Given the description of an element on the screen output the (x, y) to click on. 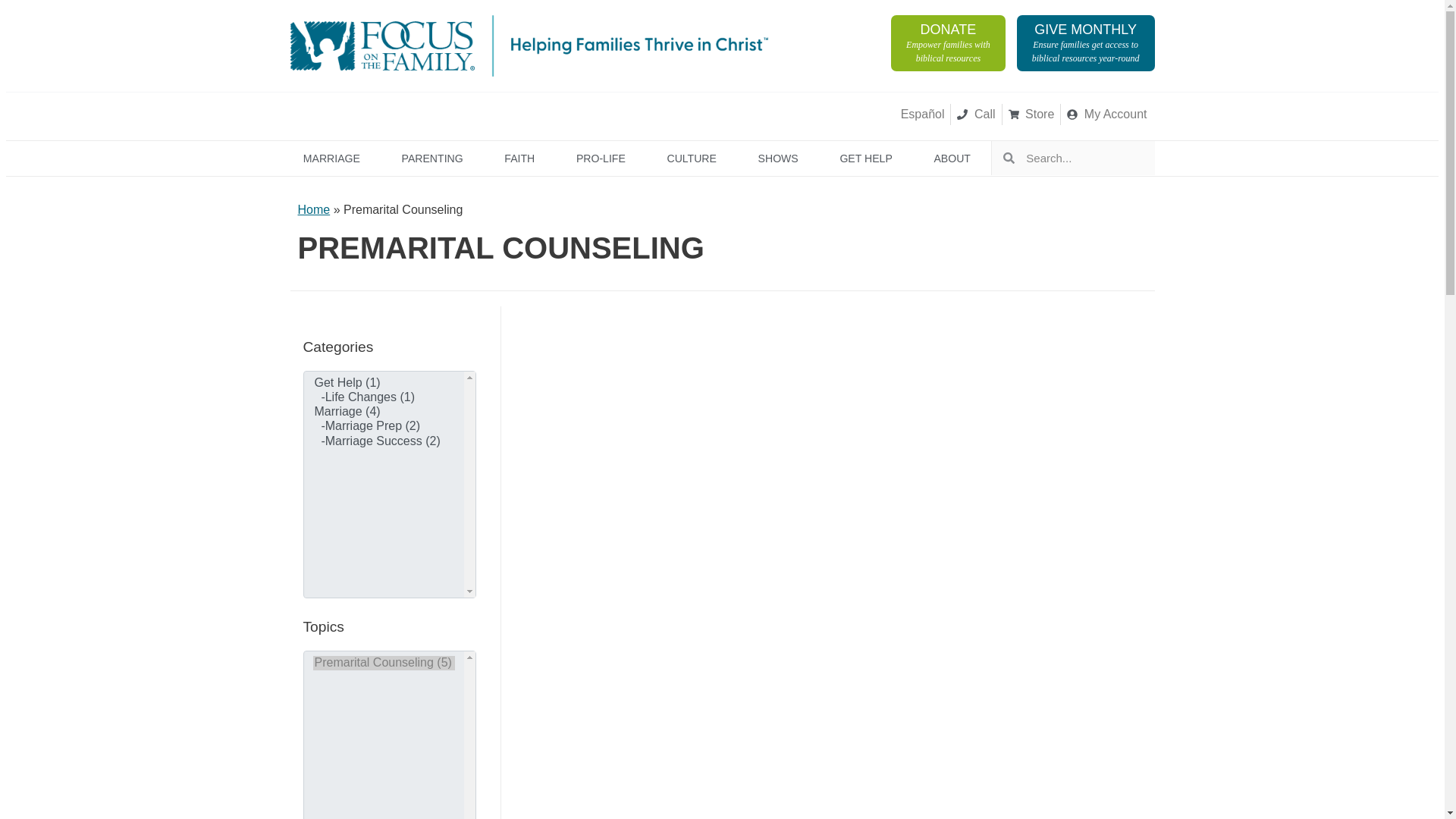
PARENTING (948, 43)
Store (431, 158)
FAITH (1031, 114)
Call (519, 158)
Brio (975, 114)
Focus on the Family Clubhouse Jr. (550, 113)
My Account (660, 113)
Plugged In (1107, 114)
